Given the description of an element on the screen output the (x, y) to click on. 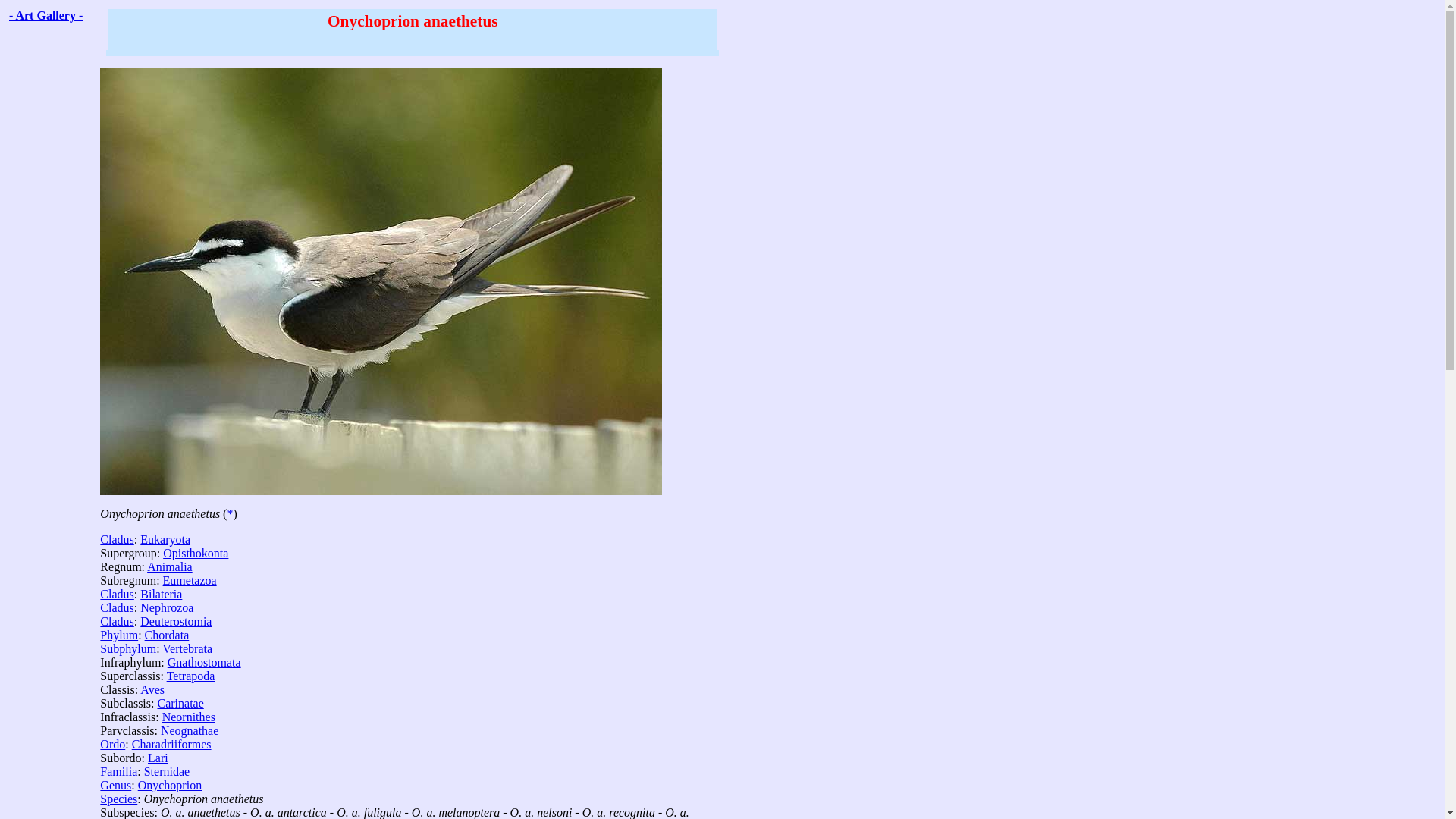
Genus (115, 784)
Cladus (116, 607)
- Art Gallery - (45, 15)
Cladus (116, 621)
Ordo (112, 744)
Neognathae (189, 730)
Lari (158, 757)
Animalia (169, 566)
Carinatae (180, 703)
Vertebrata (186, 648)
